Given the description of an element on the screen output the (x, y) to click on. 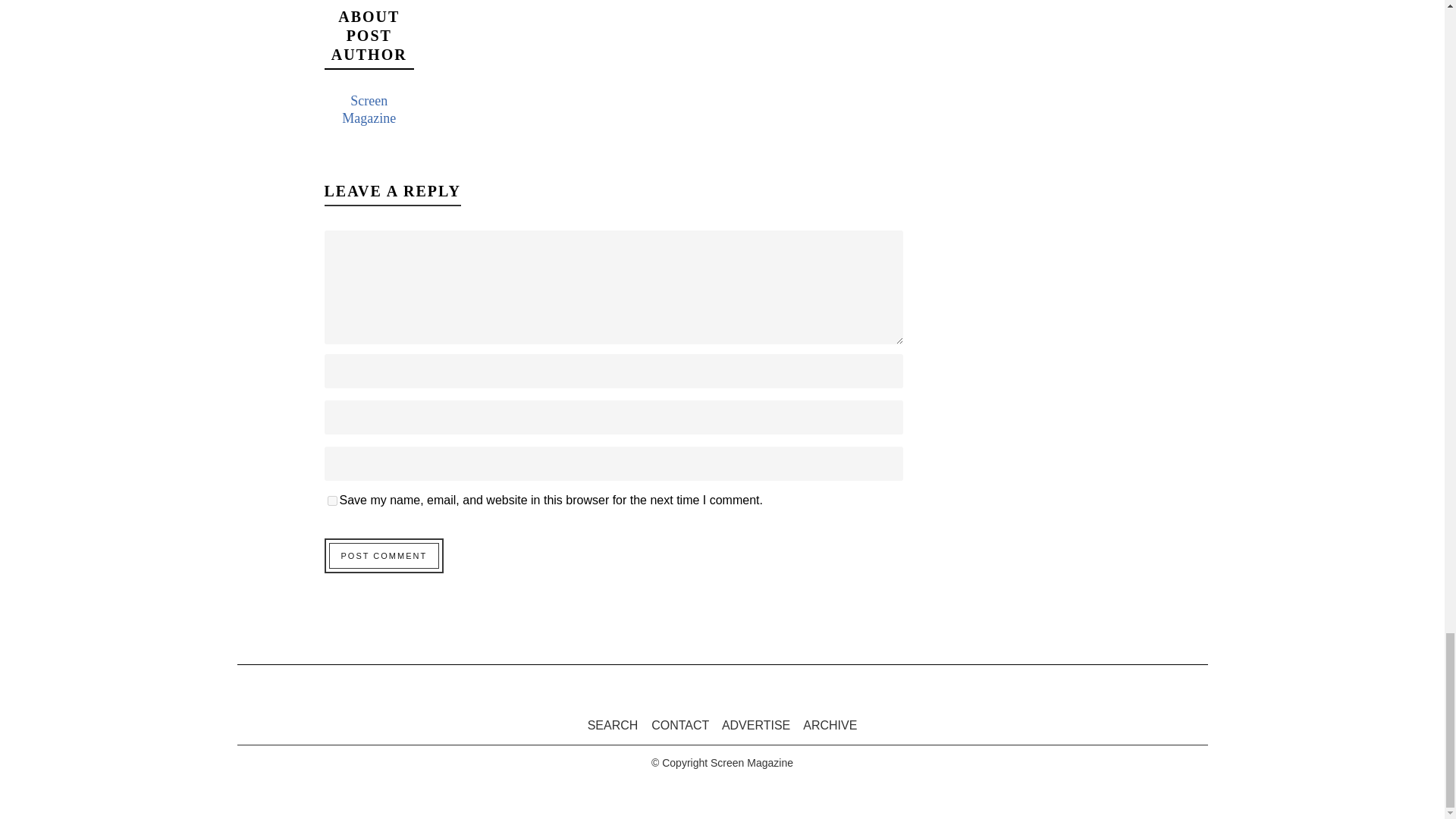
Post Comment (384, 555)
Posts by Screen Magazine (369, 109)
yes (332, 501)
